Given the description of an element on the screen output the (x, y) to click on. 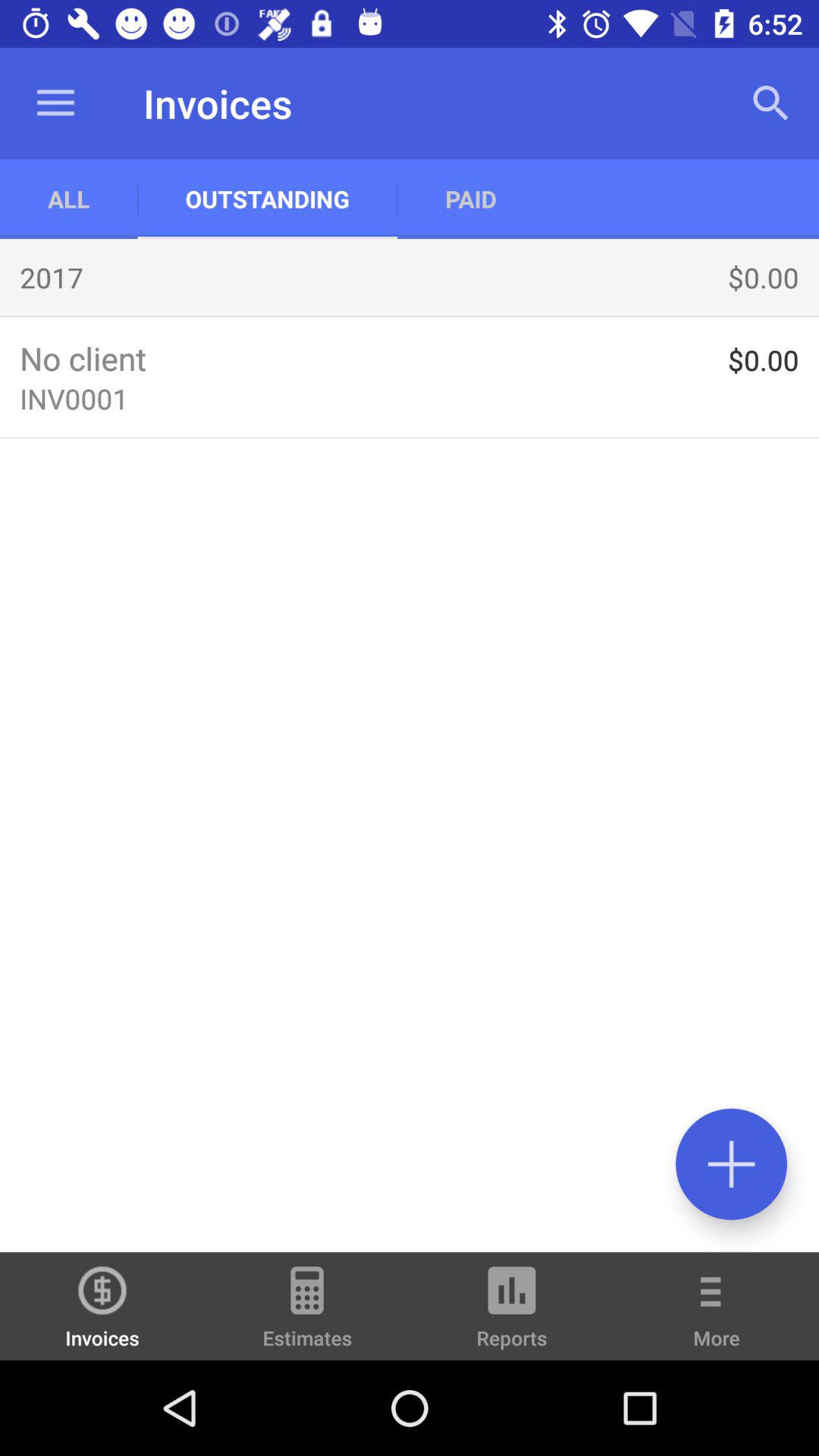
turn on the item next to reports (716, 1317)
